Given the description of an element on the screen output the (x, y) to click on. 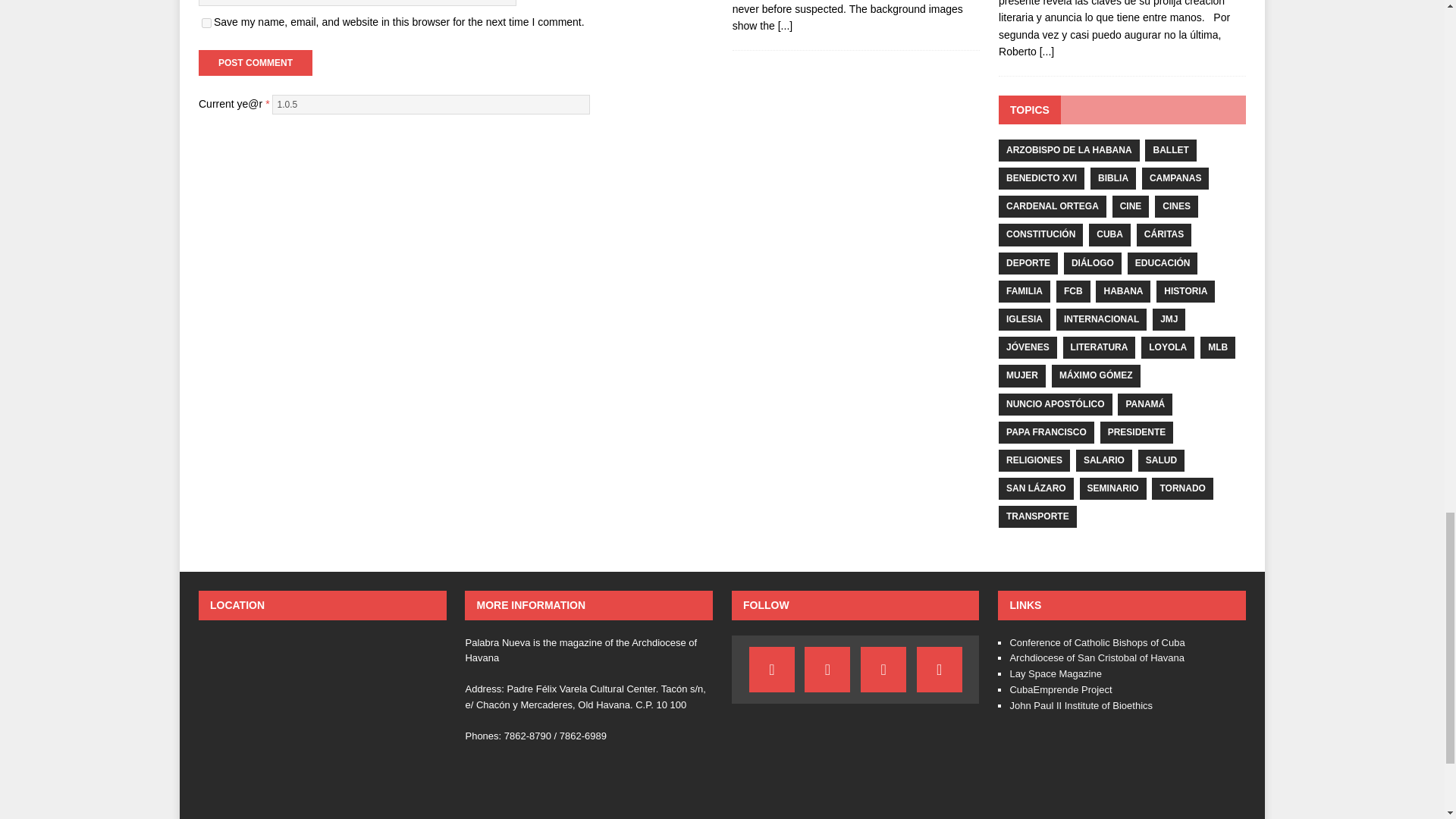
1.0.5 (430, 104)
yes (206, 22)
Post Comment (255, 62)
